Given the description of an element on the screen output the (x, y) to click on. 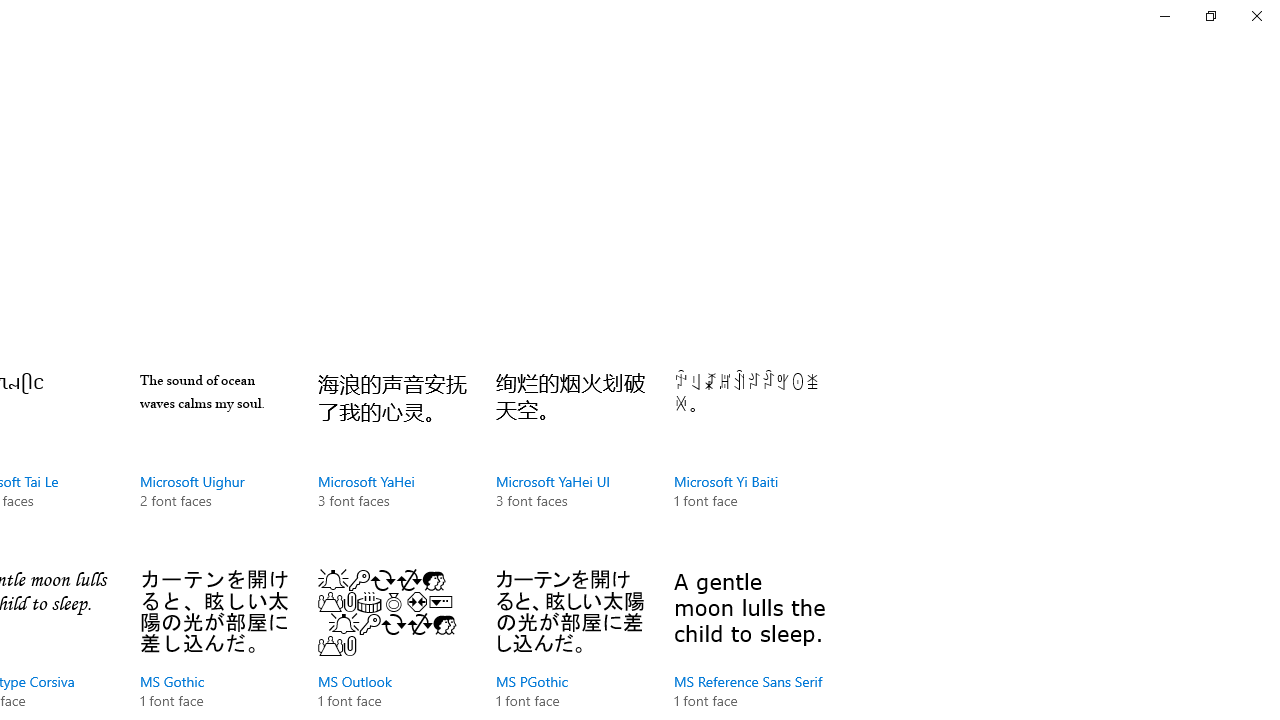
Microsoft YaHei UI, 3 font faces (570, 460)
Microsoft YaHei, 3 font faces (392, 460)
Vertical Small Decrease (1272, 103)
Microsoft Yi Baiti, 1 font face (748, 460)
Microsoft Uighur, 2 font faces (214, 460)
